Given the description of an element on the screen output the (x, y) to click on. 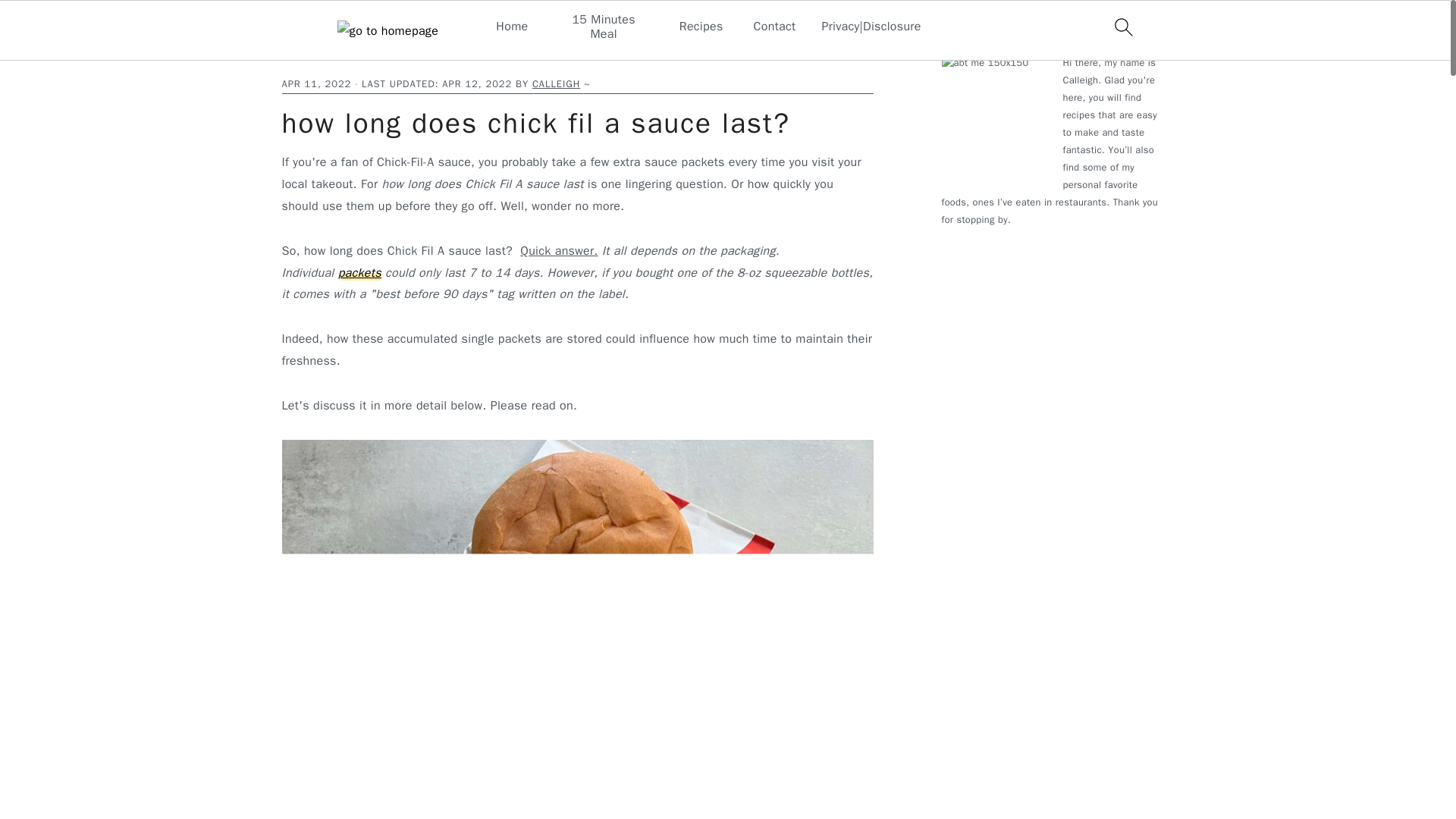
Contact (775, 26)
Recipes (701, 26)
search icon (1122, 31)
Home (511, 26)
Home (294, 53)
CALLEIGH (555, 83)
Kitchen Tips (344, 53)
packets (359, 272)
15 Minutes Meal (604, 27)
search icon (1122, 26)
